Given the description of an element on the screen output the (x, y) to click on. 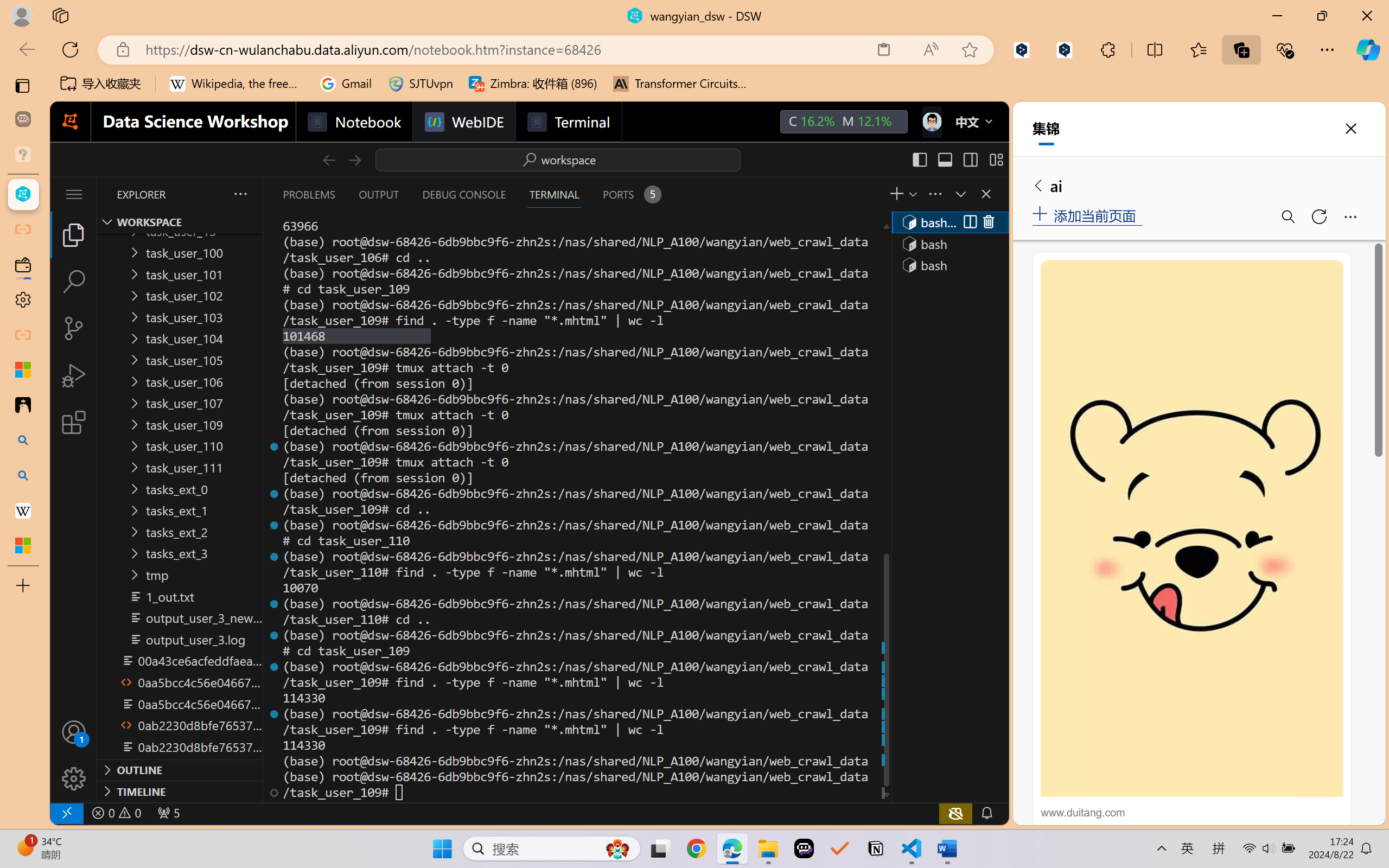
Debug Console (Ctrl+Shift+Y) (463, 194)
Source Control (Ctrl+Shift+G) (73, 328)
Title actions (957, 159)
Wikipedia, the free encyclopedia (236, 83)
Terminal (Ctrl+`) (553, 194)
Launch Profile... (911, 193)
Terminal 2 bash (949, 243)
Manage (73, 778)
Earth - Wikipedia (22, 510)
